Given the description of an element on the screen output the (x, y) to click on. 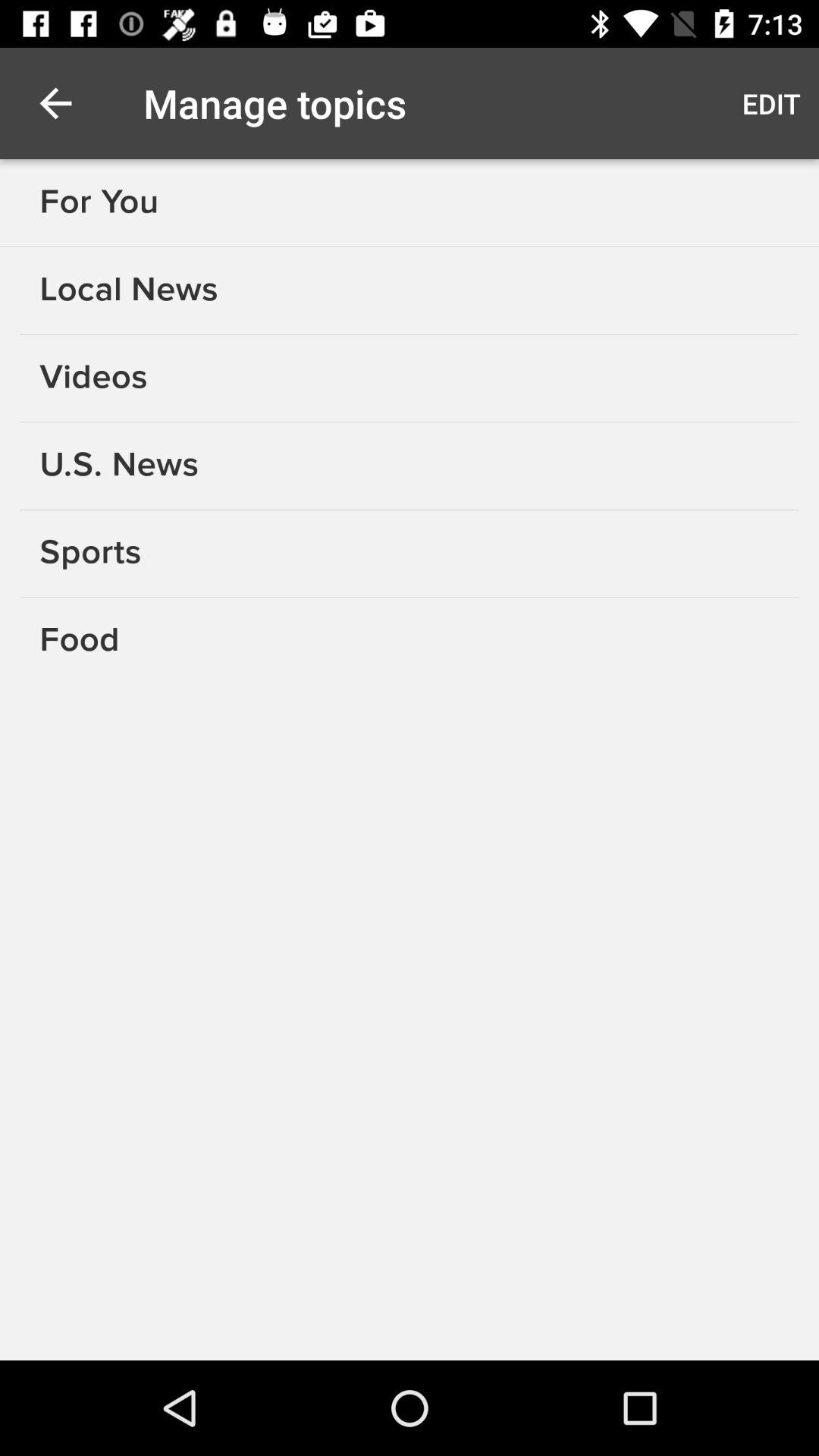
click the item above for you (55, 103)
